Given the description of an element on the screen output the (x, y) to click on. 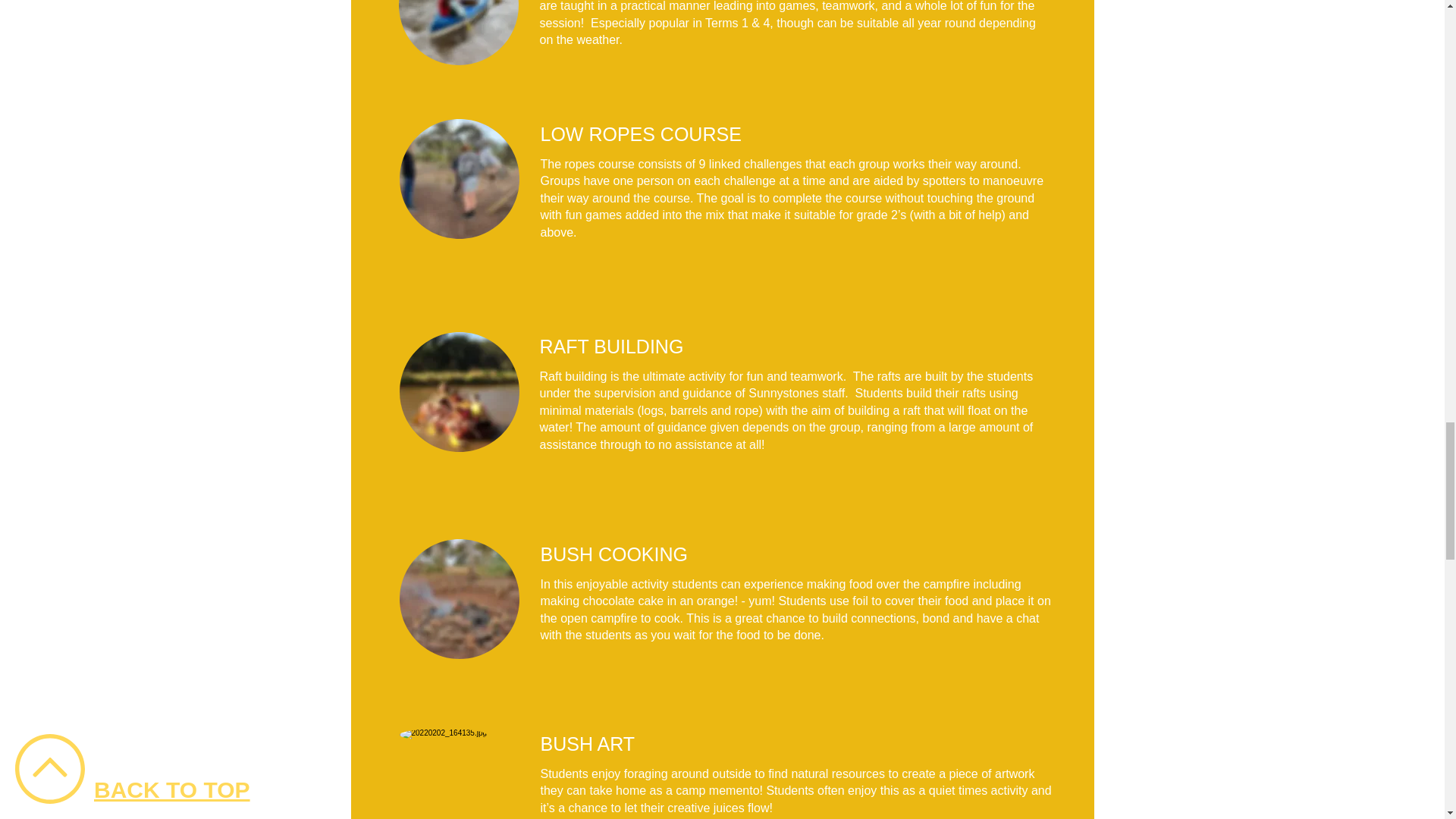
Canoeing.jpeg (458, 392)
Canoeing.jpeg (458, 773)
Canoeing.jpeg (458, 32)
Canoeing.jpeg (458, 598)
Canoeing.jpeg (458, 178)
